Given the description of an element on the screen output the (x, y) to click on. 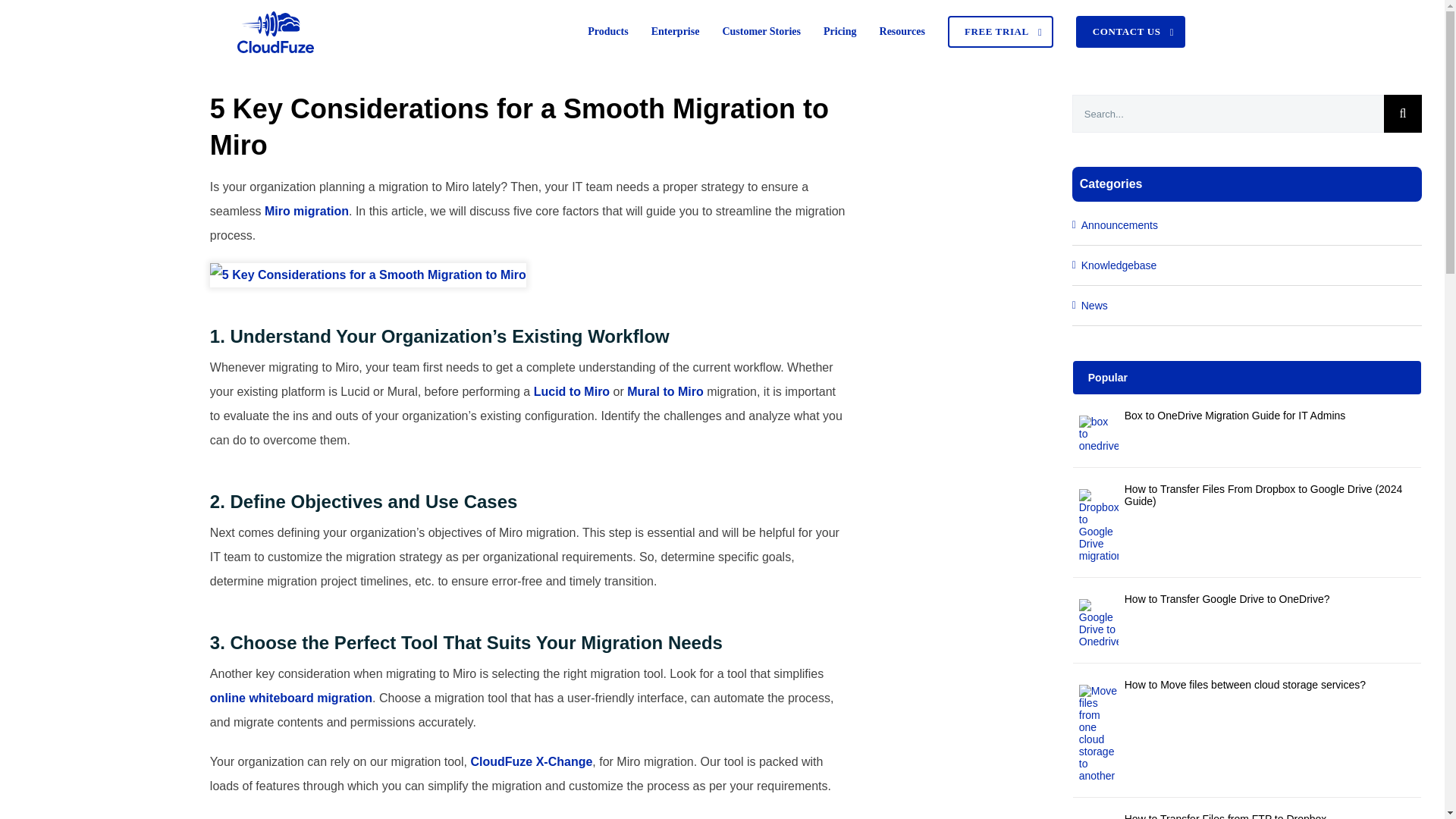
CONTACT US (1130, 31)
Miro migration (306, 210)
online whiteboard migration (290, 697)
Lucid to Miro (572, 391)
Customer Stories (761, 31)
Mural to Miro (665, 391)
FREE TRIAL (999, 31)
